Given the description of an element on the screen output the (x, y) to click on. 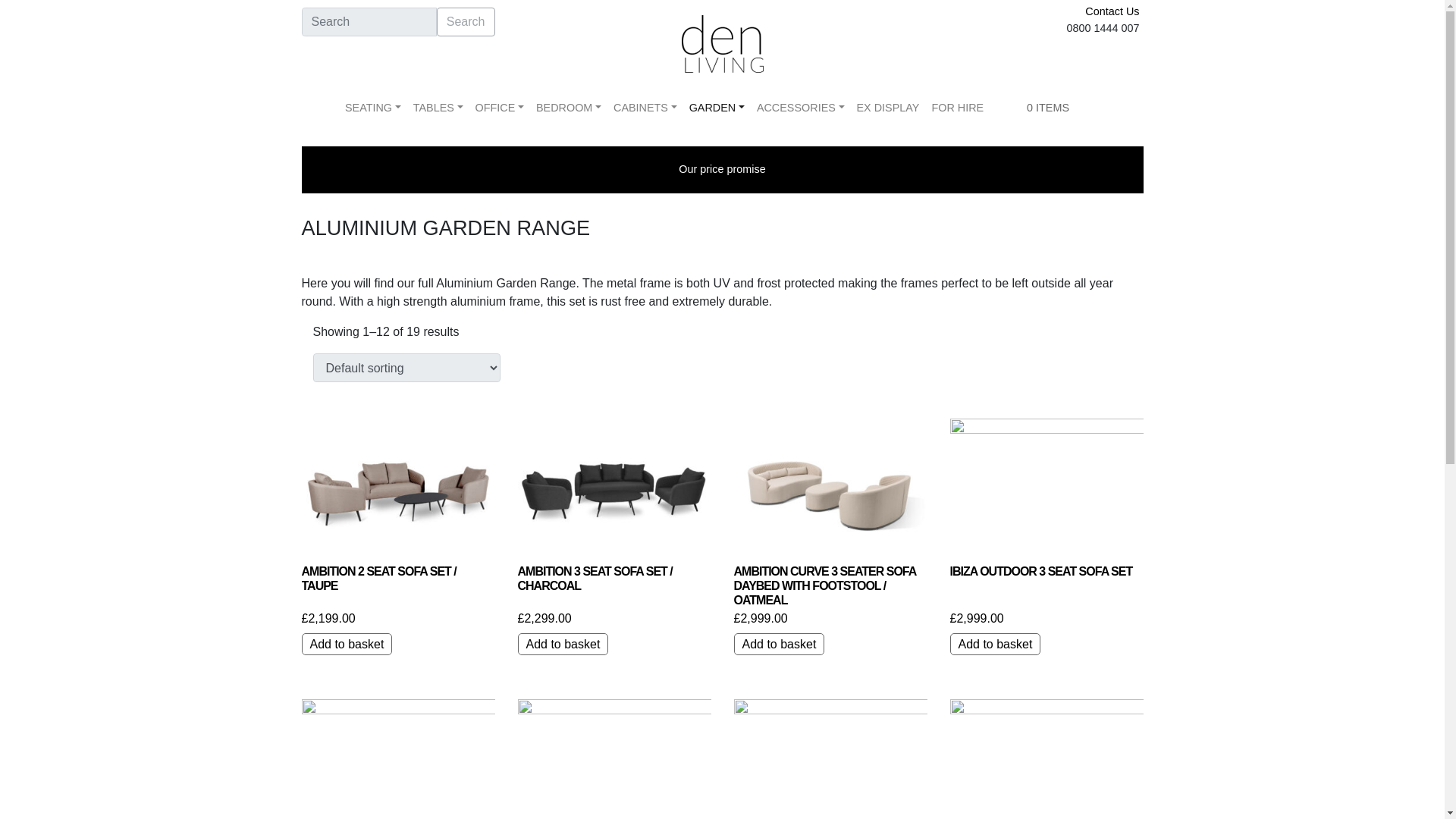
CABINETS (644, 108)
BEDROOM (568, 108)
TABLES (437, 108)
Den Living (721, 42)
Seating (373, 108)
Contact Us (1111, 10)
OFFICE (498, 108)
Search for: (368, 21)
Tables (437, 108)
Search (465, 21)
